Given the description of an element on the screen output the (x, y) to click on. 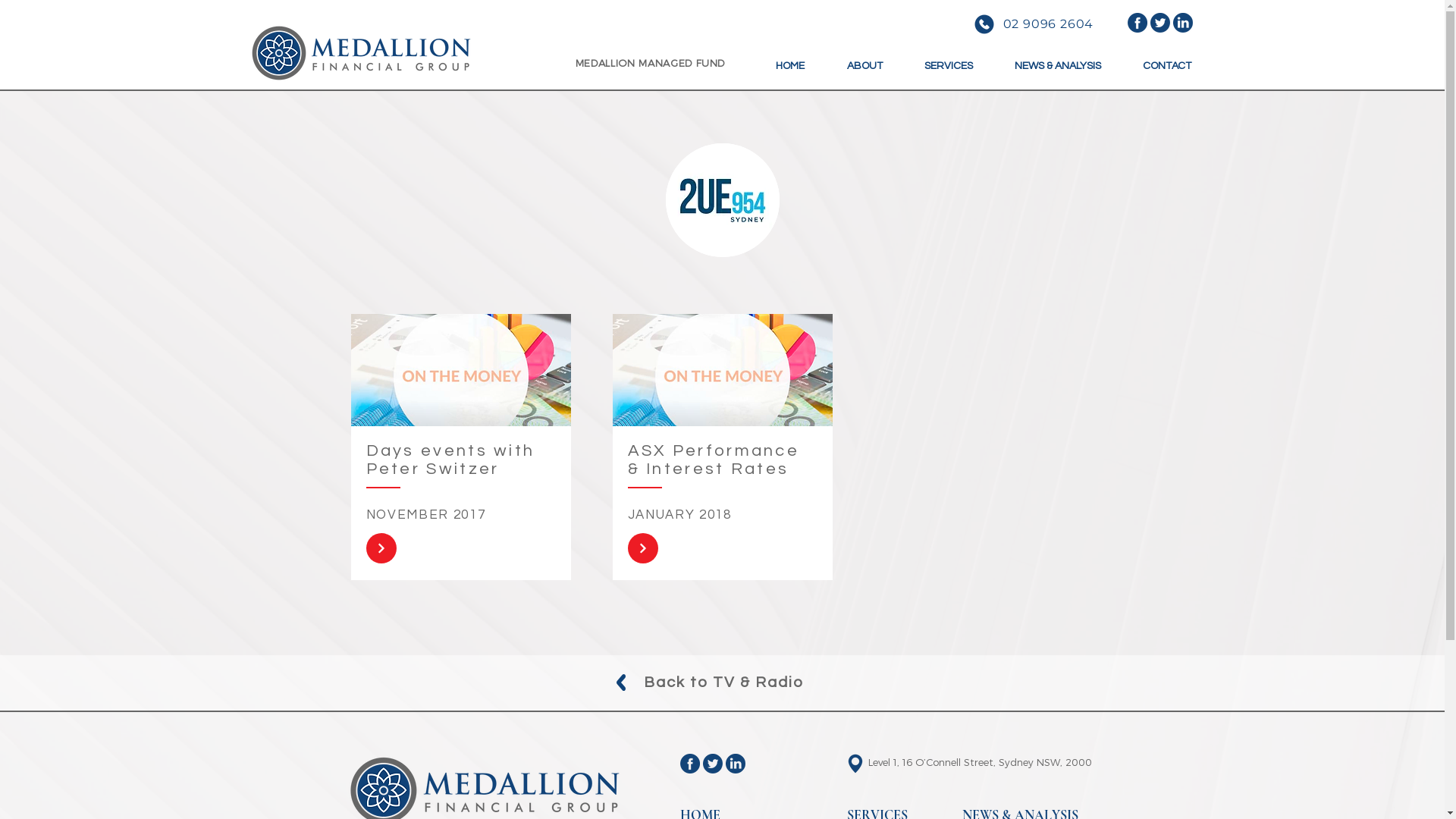
NEWS & ANALYSIS Element type: text (1057, 58)
HOME Element type: text (789, 58)
Back to TV & Radio Element type: text (723, 681)
SERVICES Element type: text (948, 58)
ABOUT Element type: text (864, 58)
MEDALLION MANAGED FUND Element type: text (649, 62)
CONTACT Element type: text (1167, 58)
